Given the description of an element on the screen output the (x, y) to click on. 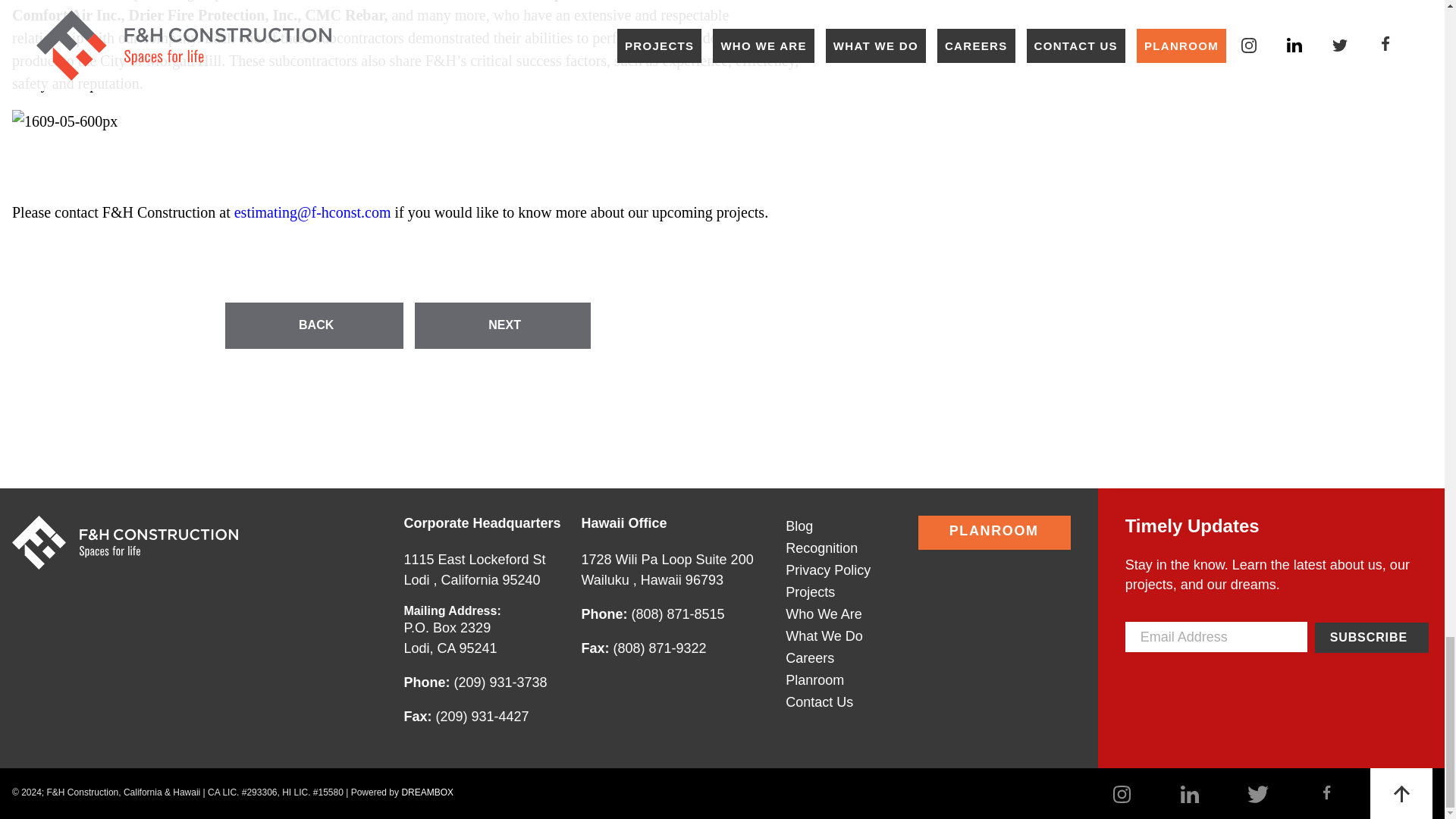
NEXT (502, 325)
BACK (478, 570)
Subscribe (314, 325)
Blog (1371, 636)
